Given the description of an element on the screen output the (x, y) to click on. 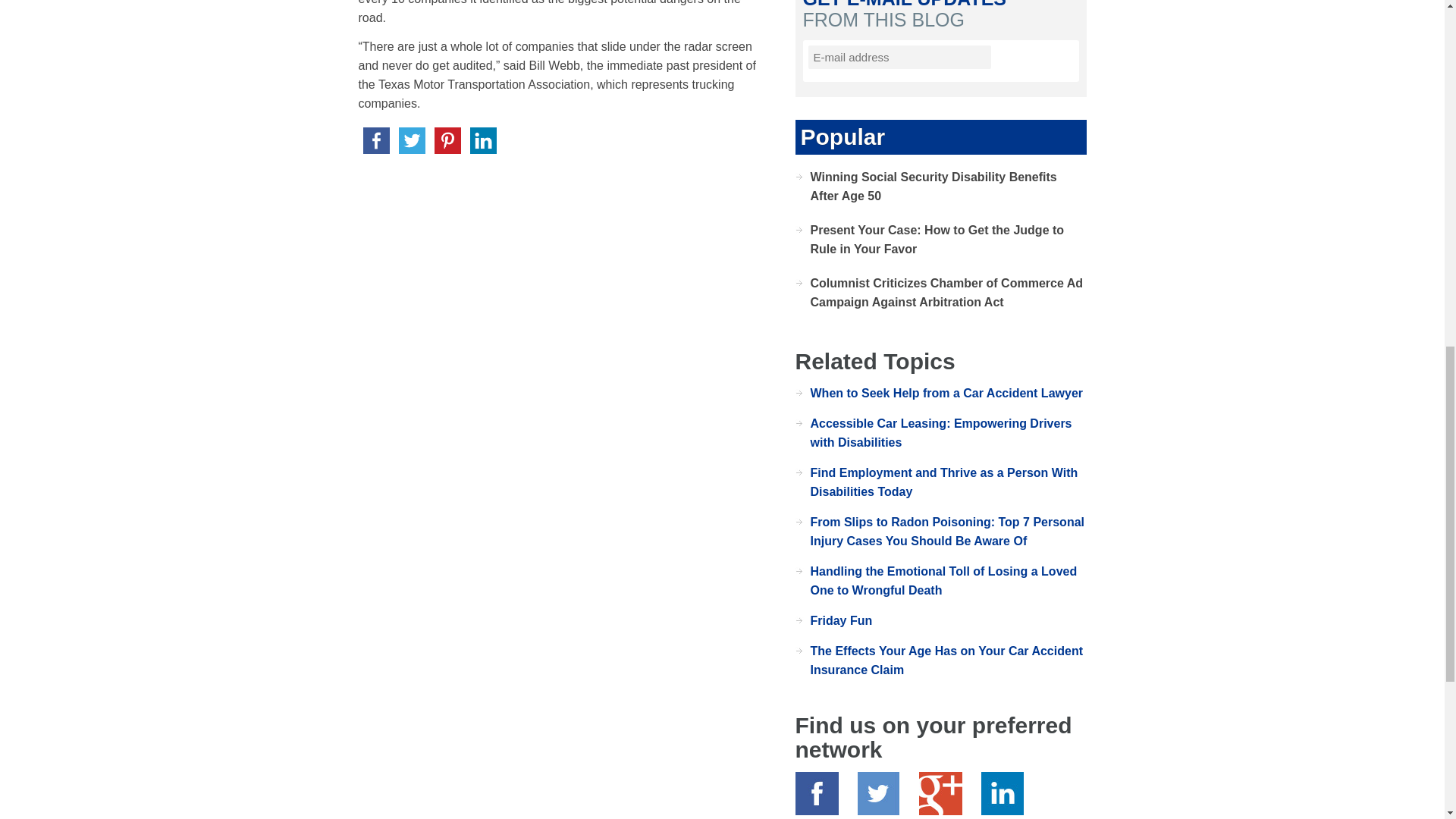
Facebook (816, 793)
Twitter (878, 793)
Winning Social Security Disability Benefits After Age 50 (933, 186)
When to Seek Help from a Car Accident Lawyer (946, 392)
Accessible Car Leasing: Empowering Drivers with Disabilities (940, 432)
facebook (375, 140)
Friday Fun (840, 620)
twitter (411, 140)
linkedin (482, 140)
pinterest (446, 140)
